Given the description of an element on the screen output the (x, y) to click on. 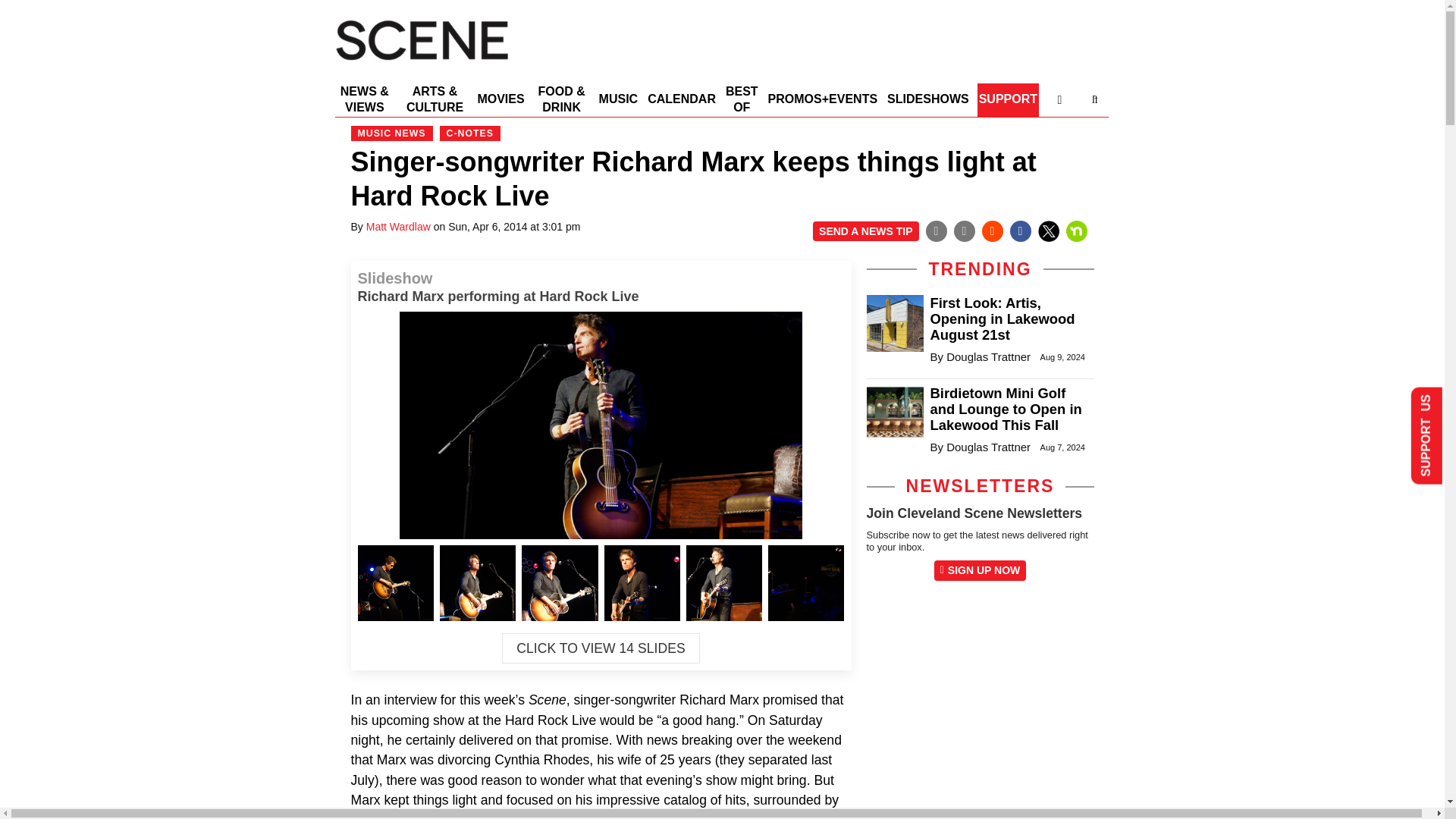
Cleveland Scene (421, 63)
MUSIC (618, 100)
BEST OF (741, 100)
CALENDAR (681, 100)
MOVIES (500, 100)
